Given the description of an element on the screen output the (x, y) to click on. 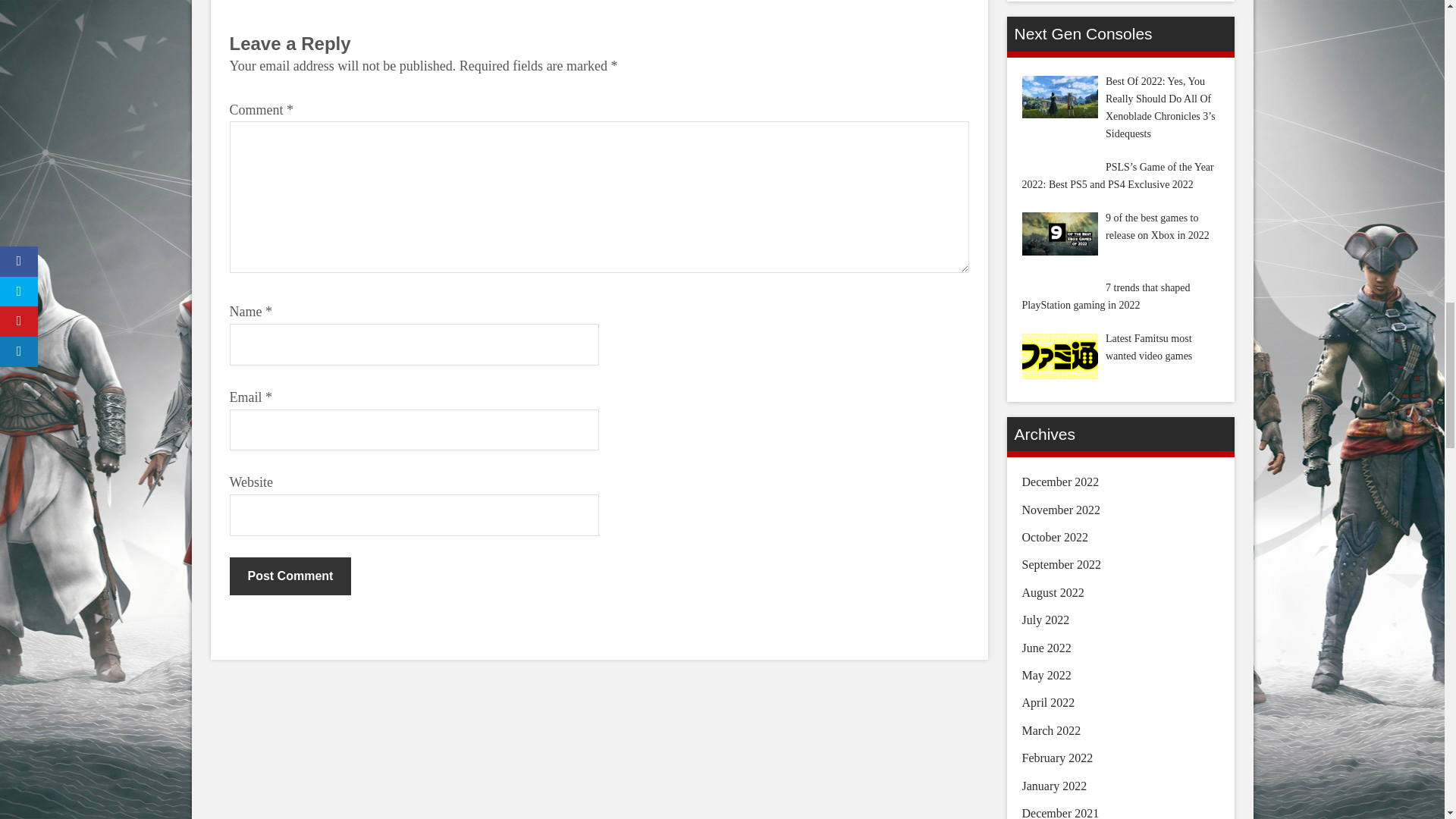
Post Comment (289, 576)
